Given the description of an element on the screen output the (x, y) to click on. 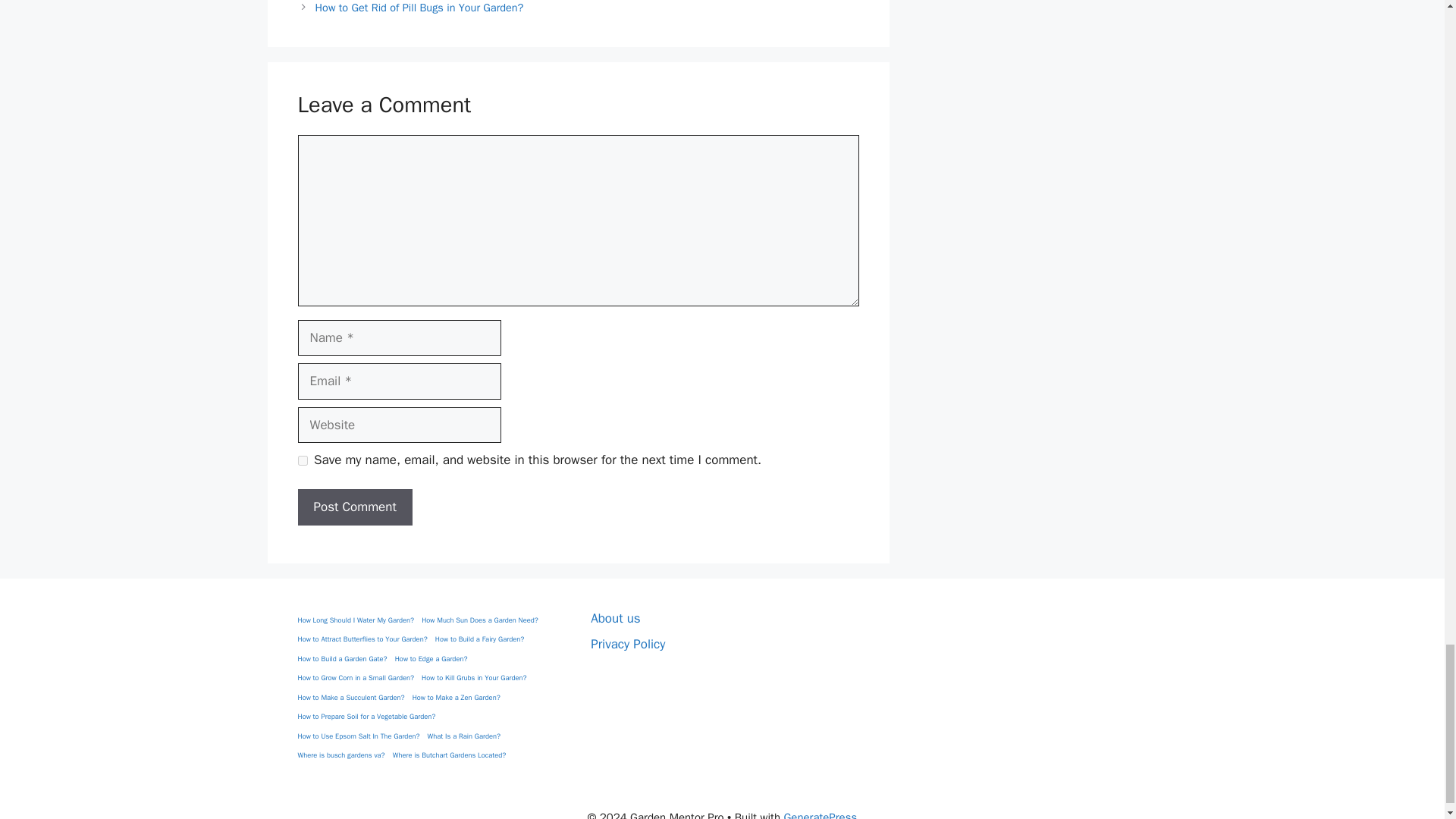
How Long Should I Water My Garden? (355, 620)
Post Comment (354, 506)
Where is busch gardens va? (340, 756)
How to Use Epsom Salt In The Garden? (358, 737)
How to Make a Zen Garden? (456, 697)
How Much Sun Does a Garden Need? (480, 620)
How to Get Rid of Pill Bugs in Your Garden? (419, 7)
yes (302, 460)
How to Edge a Garden? (430, 659)
How to Prepare Soil for a Vegetable Garden? (366, 716)
